Given the description of an element on the screen output the (x, y) to click on. 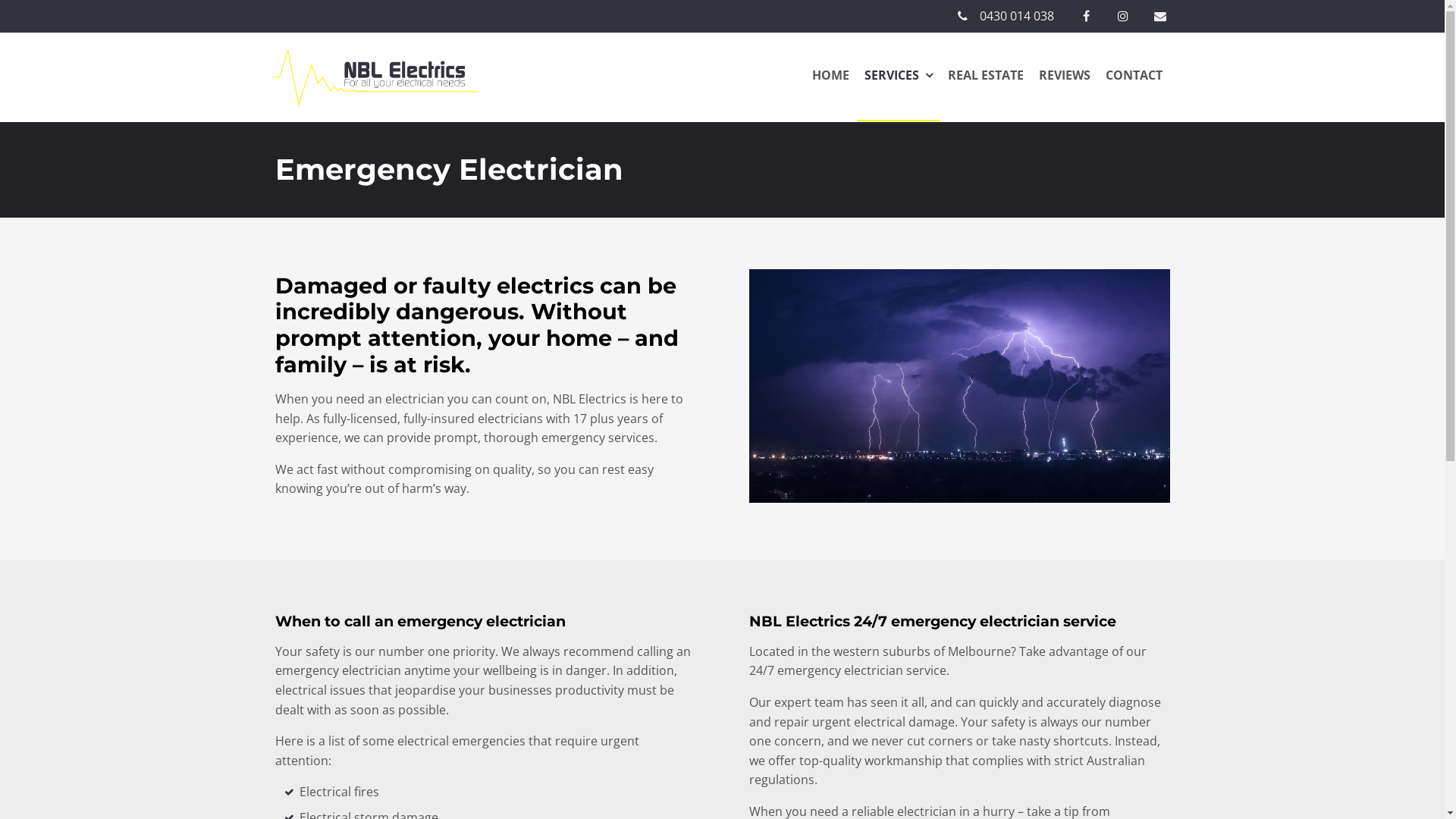
REAL ESTATE Element type: text (985, 76)
REVIEWS Element type: text (1064, 76)
CONTACT Element type: text (1134, 76)
HOME Element type: text (829, 76)
SERVICES Element type: text (898, 76)
